Given the description of an element on the screen output the (x, y) to click on. 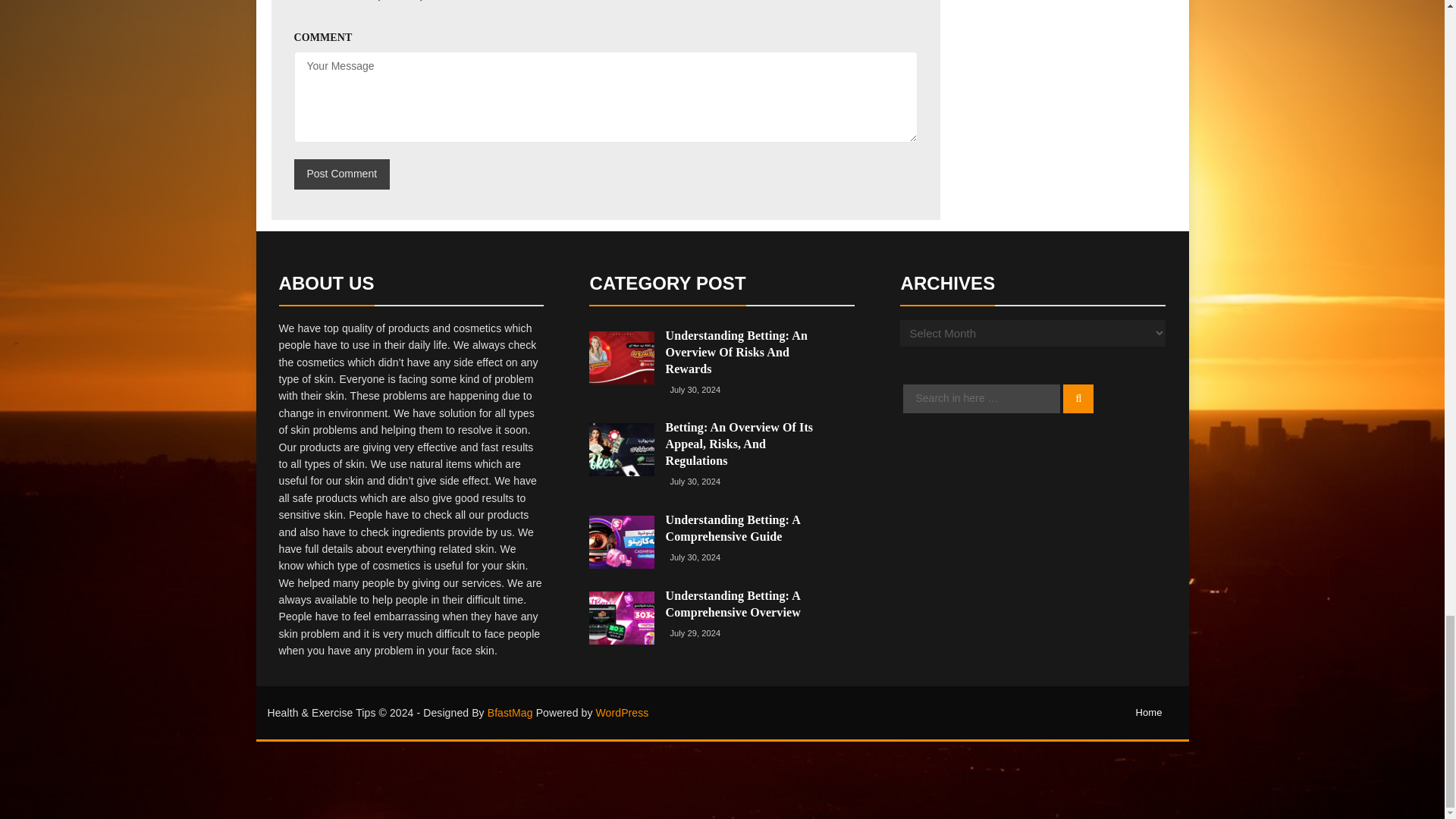
Post Comment (342, 173)
